Given the description of an element on the screen output the (x, y) to click on. 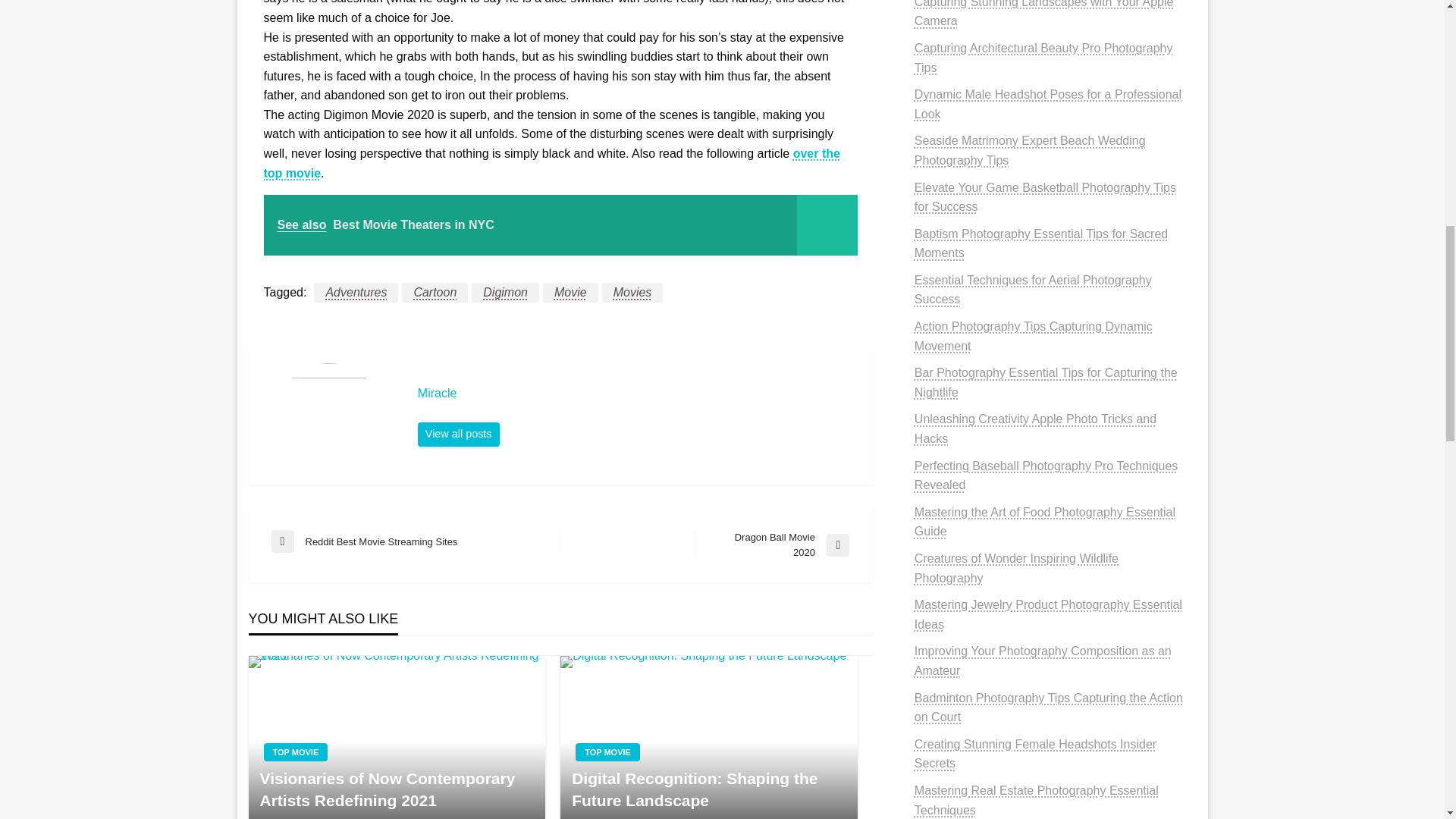
Digimon (415, 540)
Miracle (504, 292)
Visionaries of Now Contemporary Artists Redefining 2021 (458, 434)
See also  Best Movie Theaters in NYC (396, 789)
Digital Recognition: Shaping the Future Landscape (772, 544)
View all posts (560, 224)
Movies (708, 737)
Digital Recognition: Shaping the Future Landscape (458, 434)
